Given the description of an element on the screen output the (x, y) to click on. 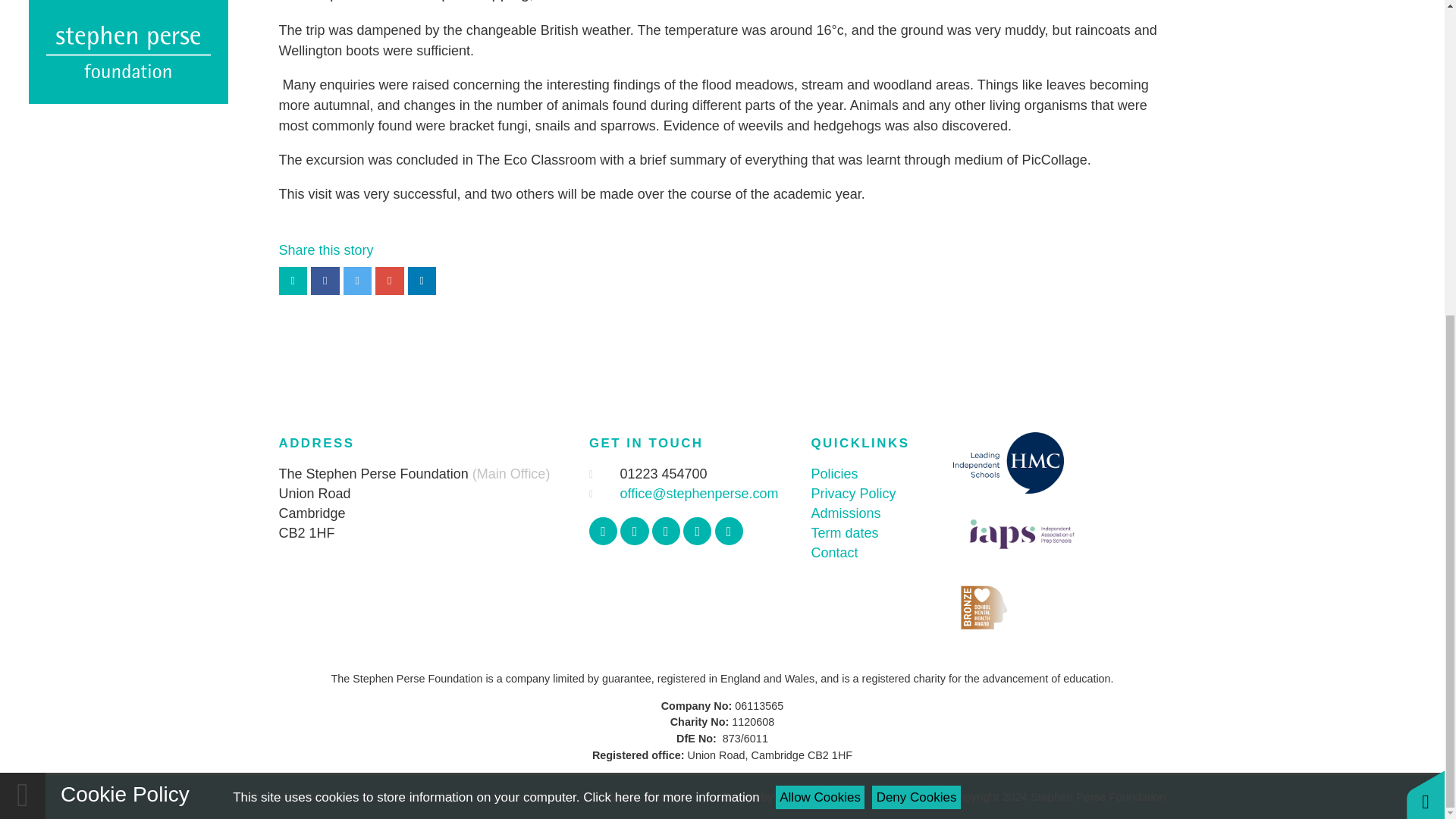
Allow Cookies (820, 290)
LinkedIn (728, 530)
YouTube (696, 530)
Twitter (633, 530)
Cookie Settings (644, 796)
Instagram (665, 530)
See cookie policy (670, 290)
Facebook (603, 530)
